Given the description of an element on the screen output the (x, y) to click on. 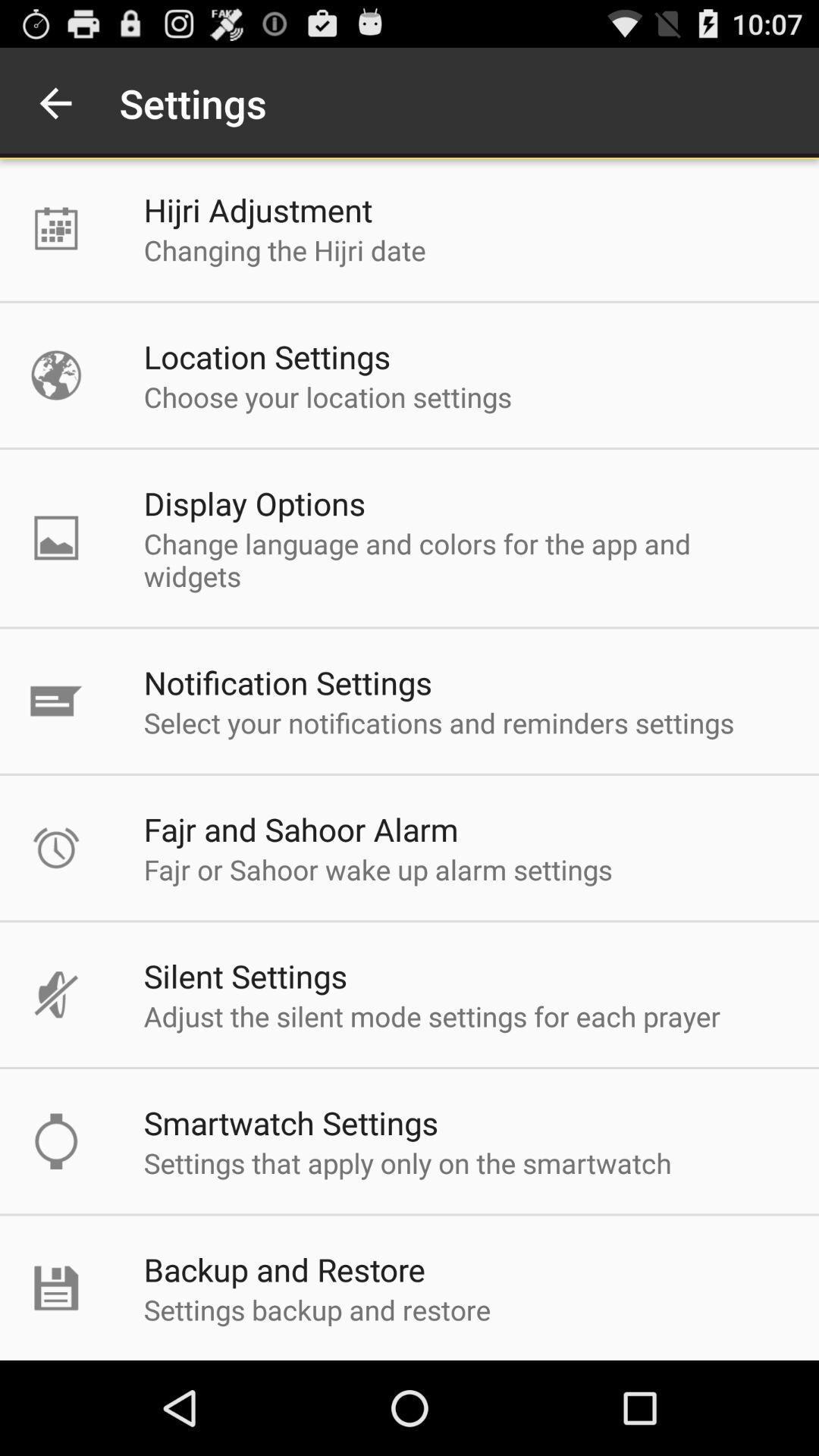
jump to changing the hijri icon (284, 250)
